Given the description of an element on the screen output the (x, y) to click on. 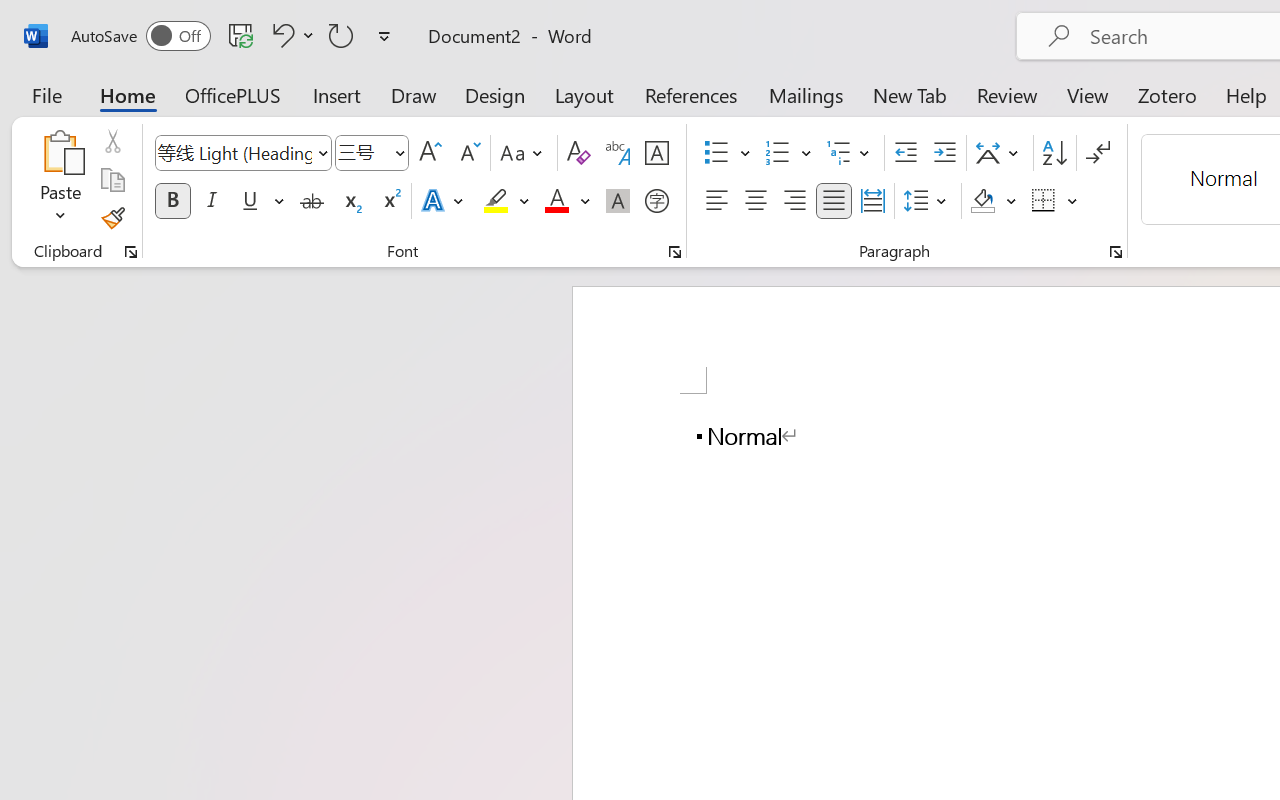
Italic (212, 201)
Character Border (656, 153)
Superscript (390, 201)
Multilevel List (850, 153)
Align Left (716, 201)
Underline (261, 201)
Office Clipboard... (131, 252)
Grow Font (430, 153)
Undo Typing (280, 35)
Font Color (567, 201)
Insert (337, 94)
More Options (1073, 201)
Bullets (727, 153)
Strikethrough (312, 201)
